Given the description of an element on the screen output the (x, y) to click on. 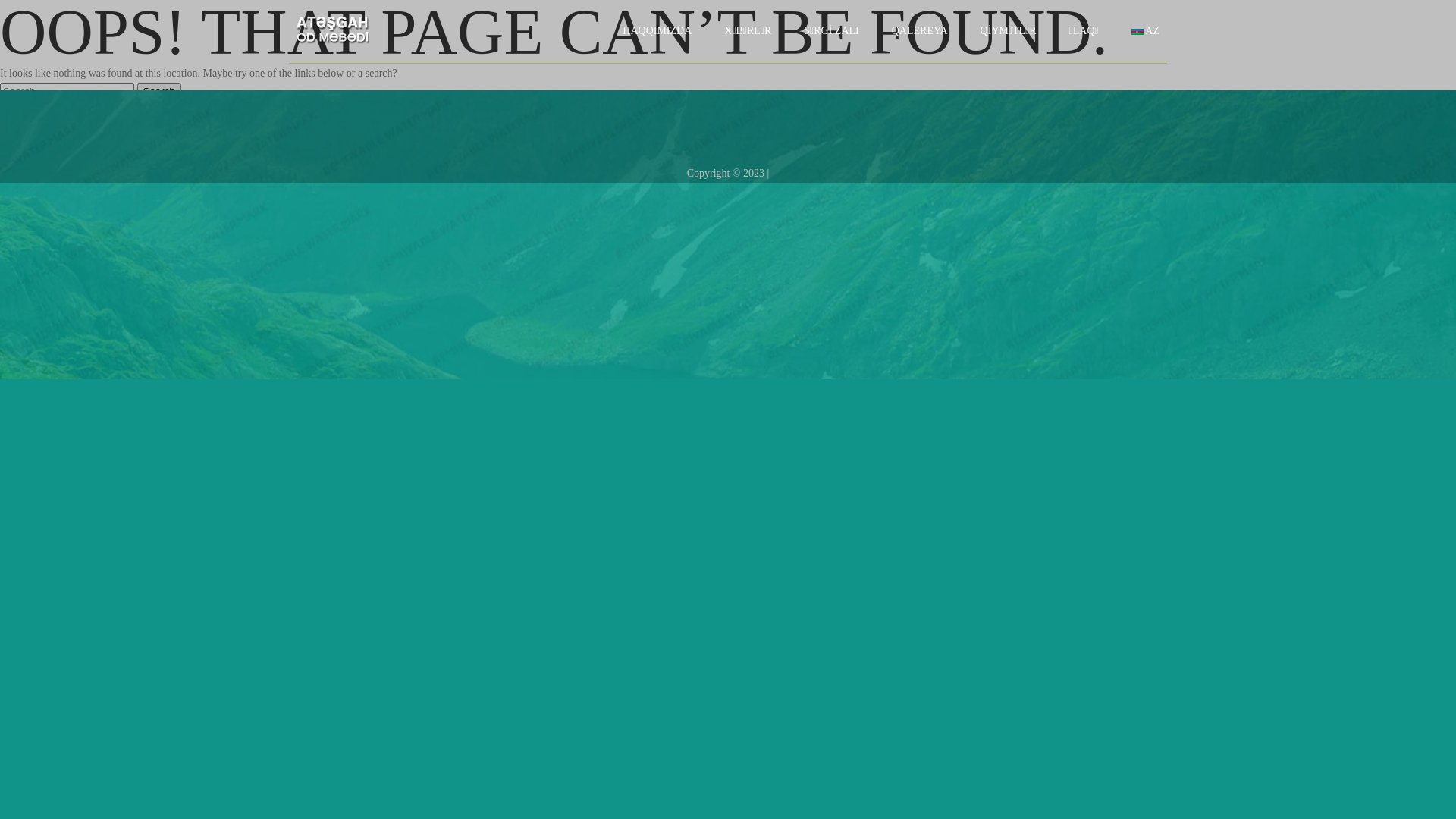
 AZ Element type: text (1145, 30)
QALEREYA Element type: text (919, 30)
HAQQIMIZDA Element type: text (656, 30)
Search Element type: text (158, 91)
